Given the description of an element on the screen output the (x, y) to click on. 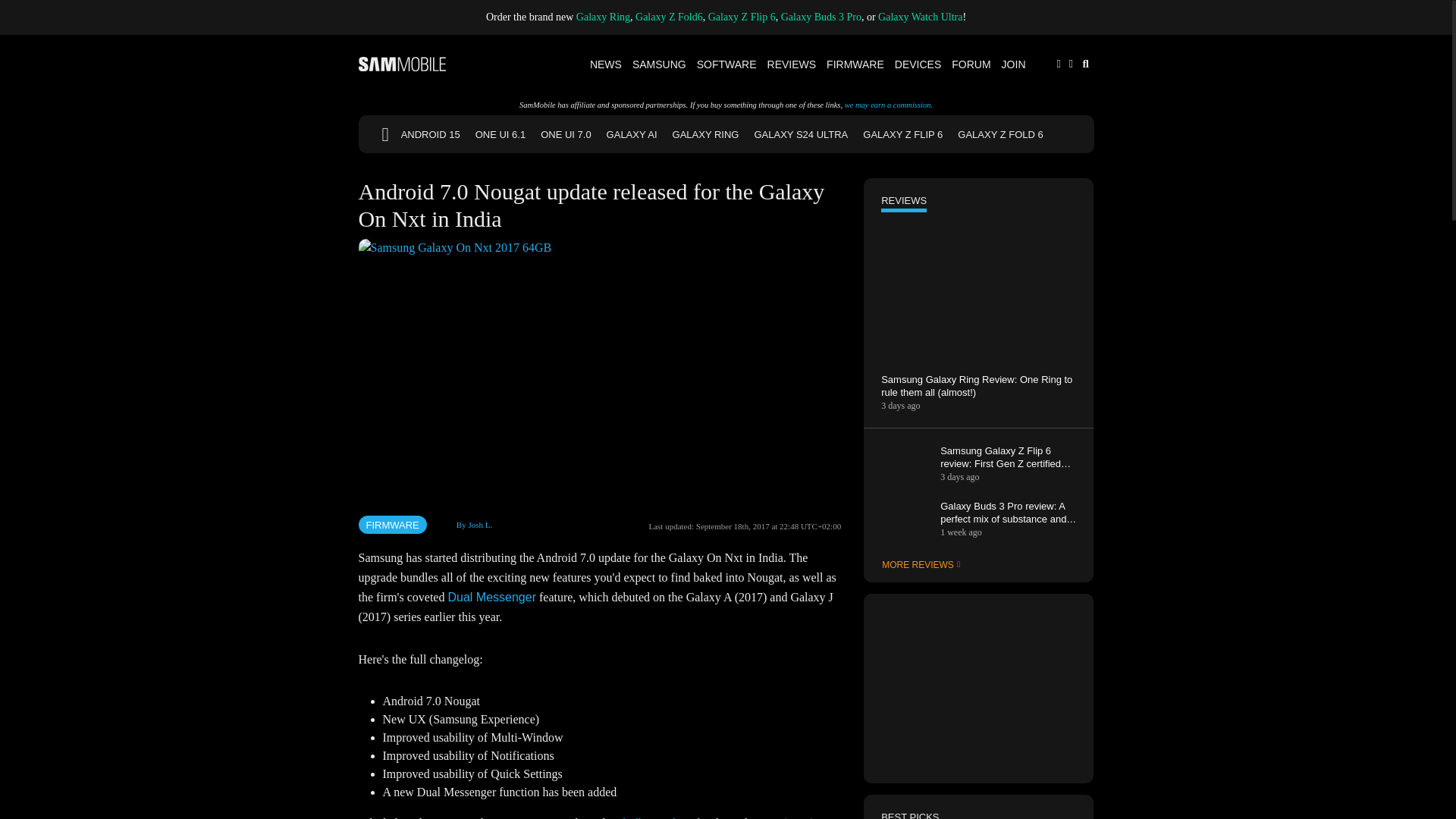
SAMSUNG (659, 64)
Galaxy Ring (603, 16)
Galaxy Watch Ultra (919, 16)
Galaxy Z Fold6 (668, 16)
Samsung (659, 64)
Galaxy Buds 3 Pro (820, 16)
Galaxy Z Flip 6 (741, 16)
SamMobile logo (401, 63)
